Given the description of an element on the screen output the (x, y) to click on. 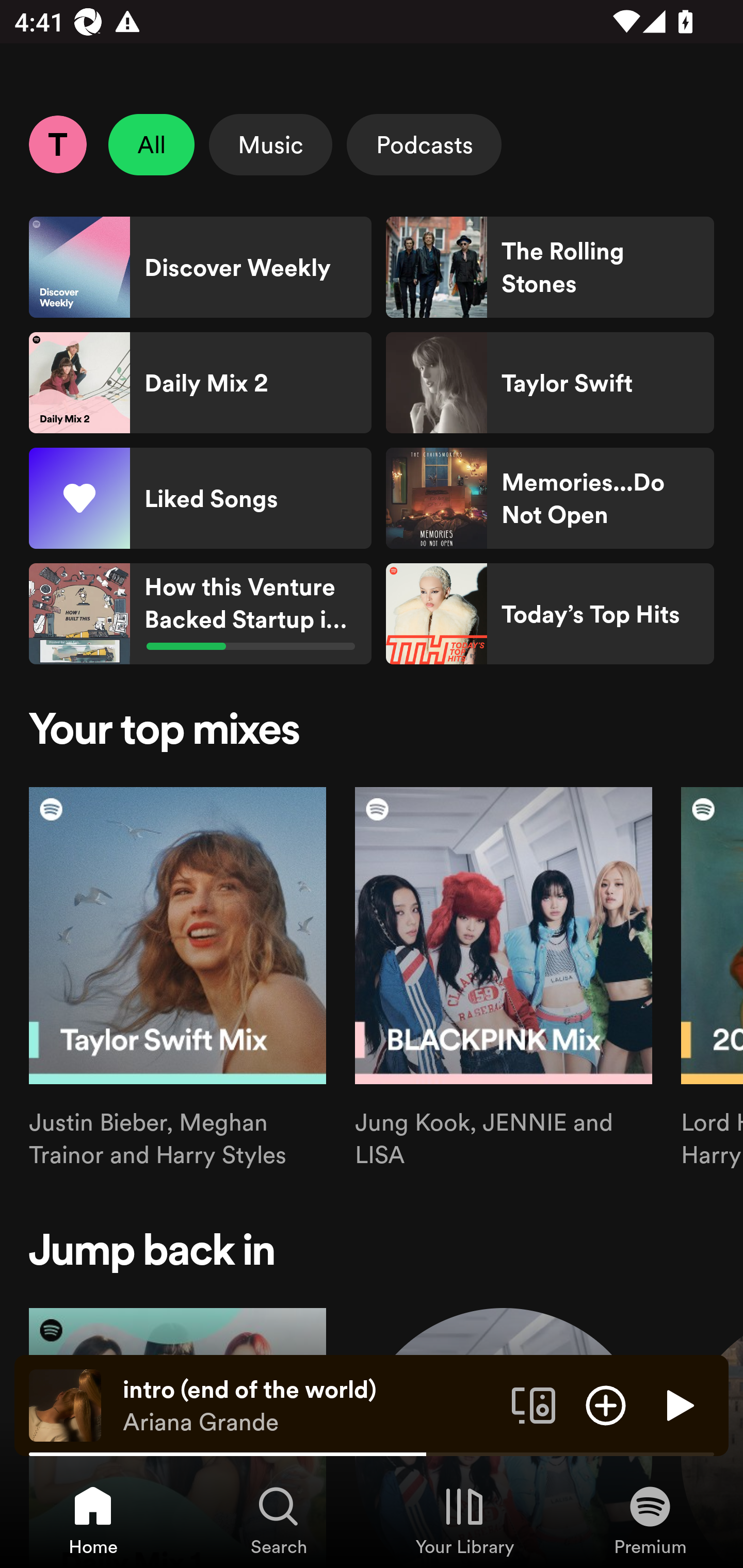
Profile (57, 144)
All Unselect All (151, 144)
Music Select Music (270, 144)
Podcasts Select Podcasts (423, 144)
Discover Weekly Shortcut Discover Weekly (199, 267)
The Rolling Stones Shortcut The Rolling Stones (549, 267)
Daily Mix 2 Shortcut Daily Mix 2 (199, 382)
Taylor Swift Shortcut Taylor Swift (549, 382)
Liked Songs Shortcut Liked Songs (199, 498)
Today’s Top Hits Shortcut Today’s Top Hits (549, 613)
intro (end of the world) Ariana Grande (309, 1405)
The cover art of the currently playing track (64, 1404)
Connect to a device. Opens the devices menu (533, 1404)
Add item (605, 1404)
Play (677, 1404)
Home, Tab 1 of 4 Home Home (92, 1519)
Search, Tab 2 of 4 Search Search (278, 1519)
Your Library, Tab 3 of 4 Your Library Your Library (464, 1519)
Premium, Tab 4 of 4 Premium Premium (650, 1519)
